Given the description of an element on the screen output the (x, y) to click on. 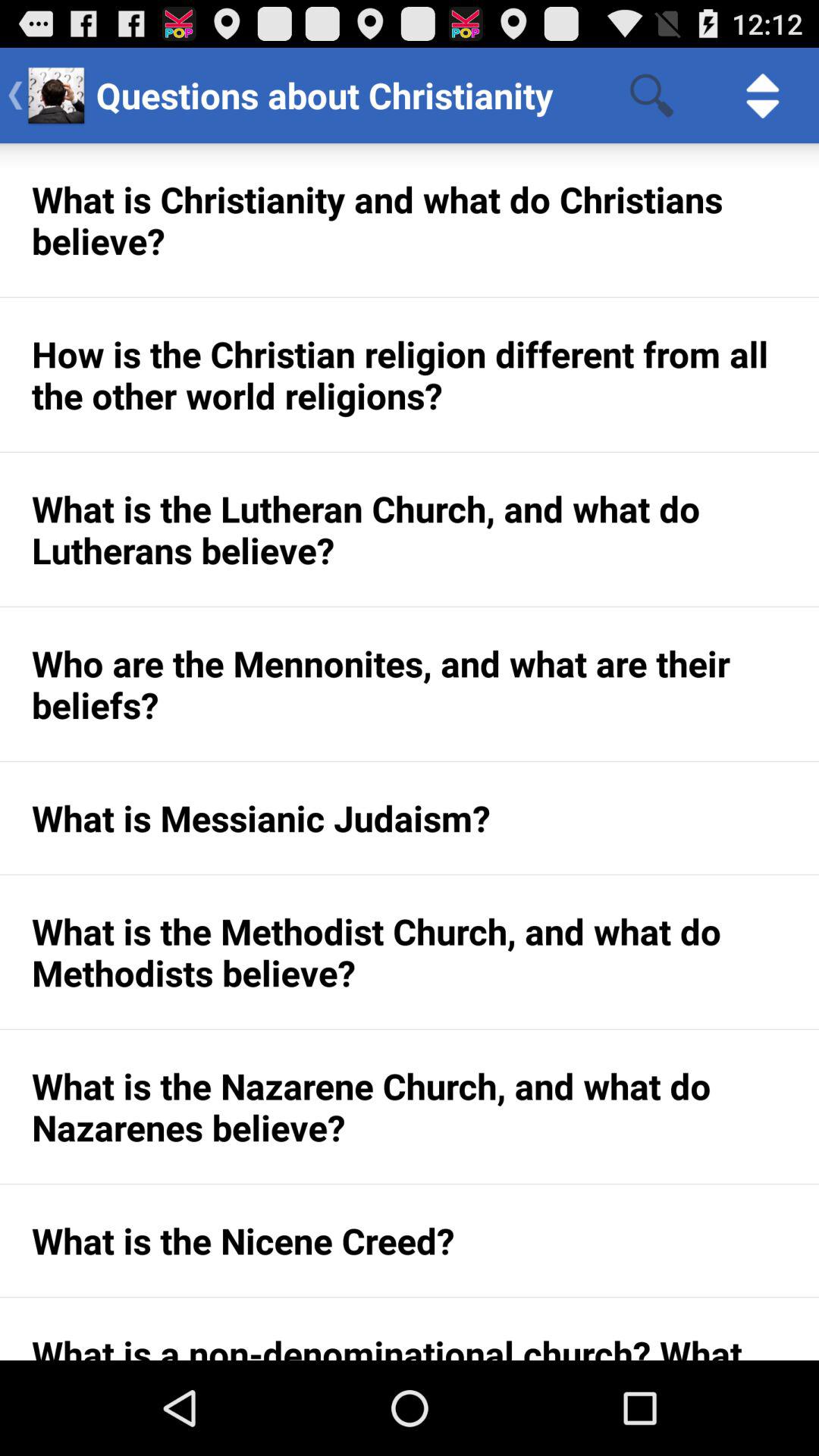
open icon above what is messianic app (409, 683)
